Given the description of an element on the screen output the (x, y) to click on. 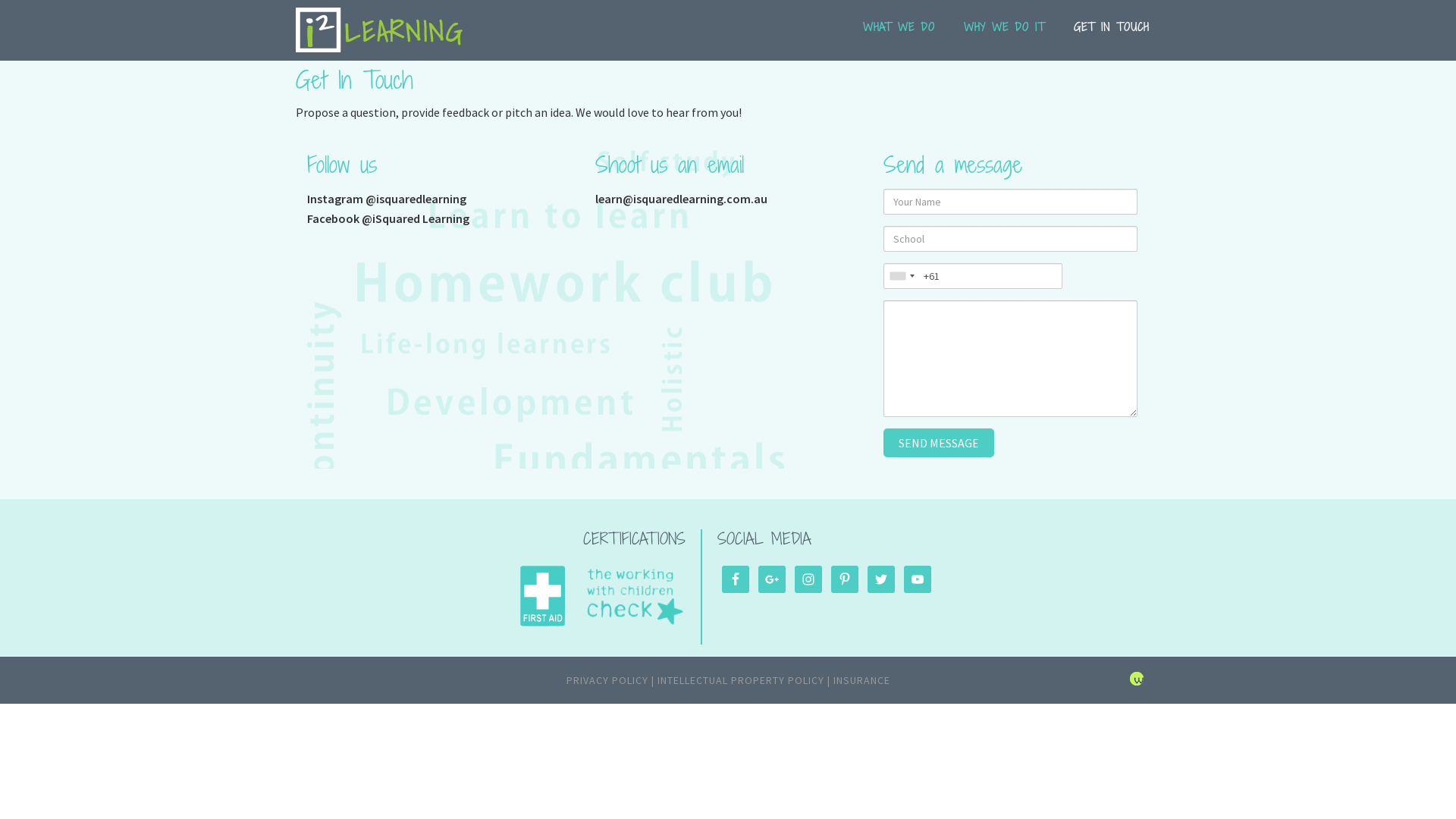
Send Message Element type: text (938, 442)
Webde.me Element type: text (1140, 682)
Australia: +61 Element type: hover (901, 275)
INSURANCE Element type: text (860, 680)
PRIVACY POLICY Element type: text (606, 680)
GET IN TOUCH Element type: text (1111, 35)
learn@isquaredlearning.com.au Element type: text (681, 198)
WHY WE DO IT Element type: text (1004, 35)
INTELLECTUAL PROPERTY POLICY Element type: text (739, 680)
ISQUARED LEARNING Element type: text (378, 29)
WHAT WE DO Element type: text (898, 35)
